Given the description of an element on the screen output the (x, y) to click on. 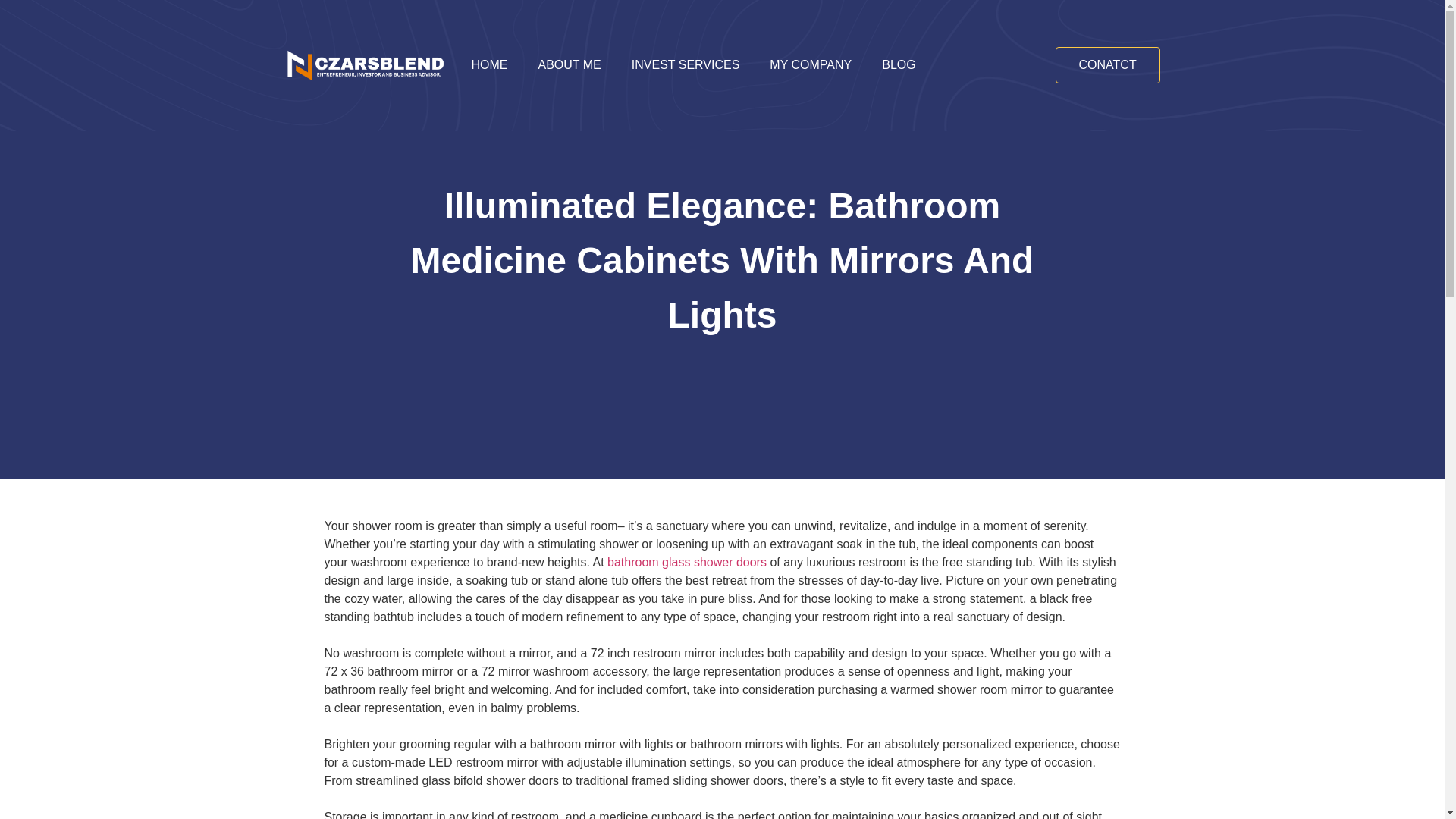
ABOUT ME (568, 64)
bathroom glass shower doors (687, 562)
MY COMPANY (810, 64)
INVEST SERVICES (685, 64)
HOME (489, 64)
BLOG (898, 64)
CONATCT (1107, 64)
